Given the description of an element on the screen output the (x, y) to click on. 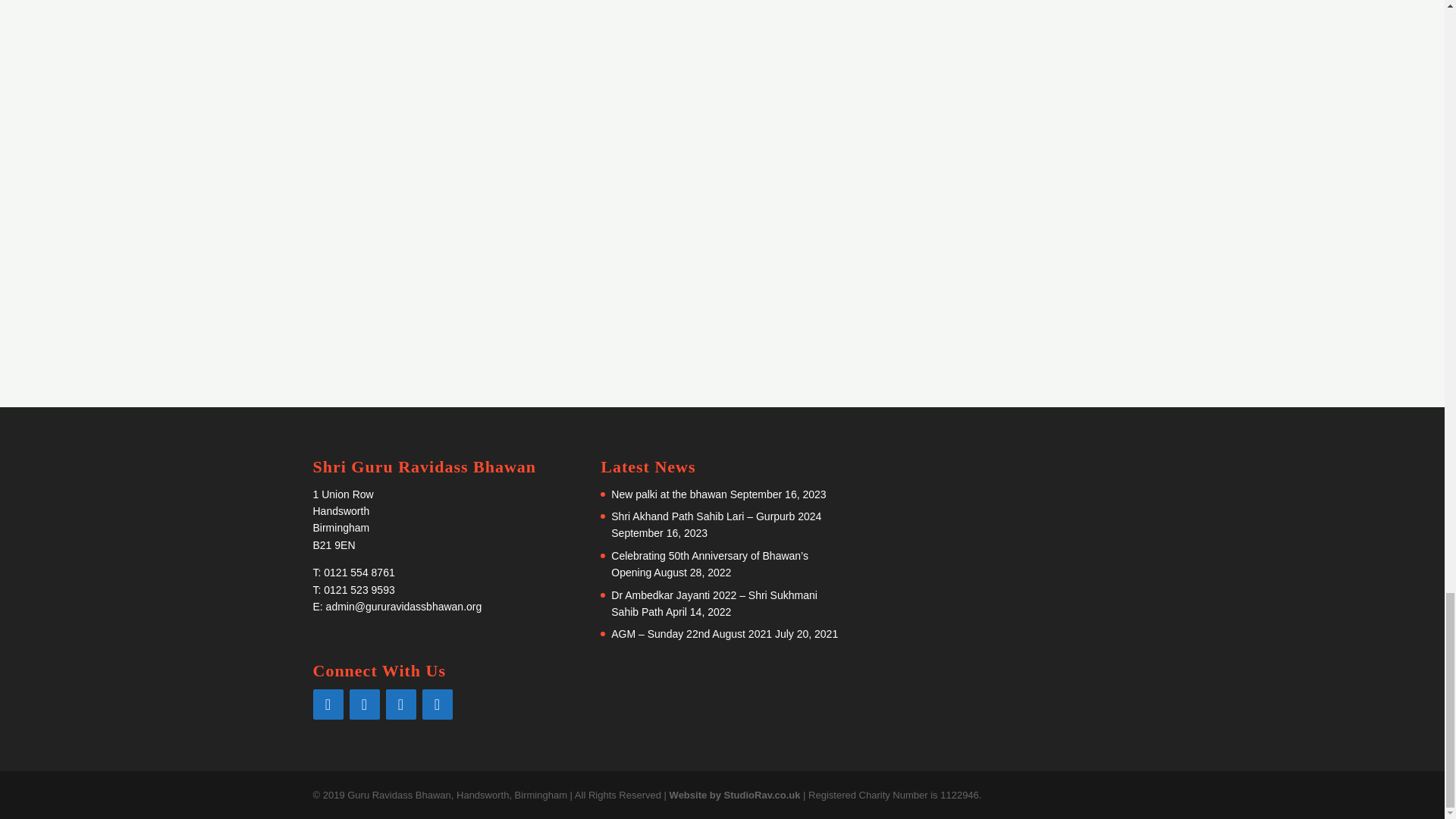
Instagram (399, 704)
Twitter (436, 704)
Facebook (327, 704)
YouTube (363, 704)
